Given the description of an element on the screen output the (x, y) to click on. 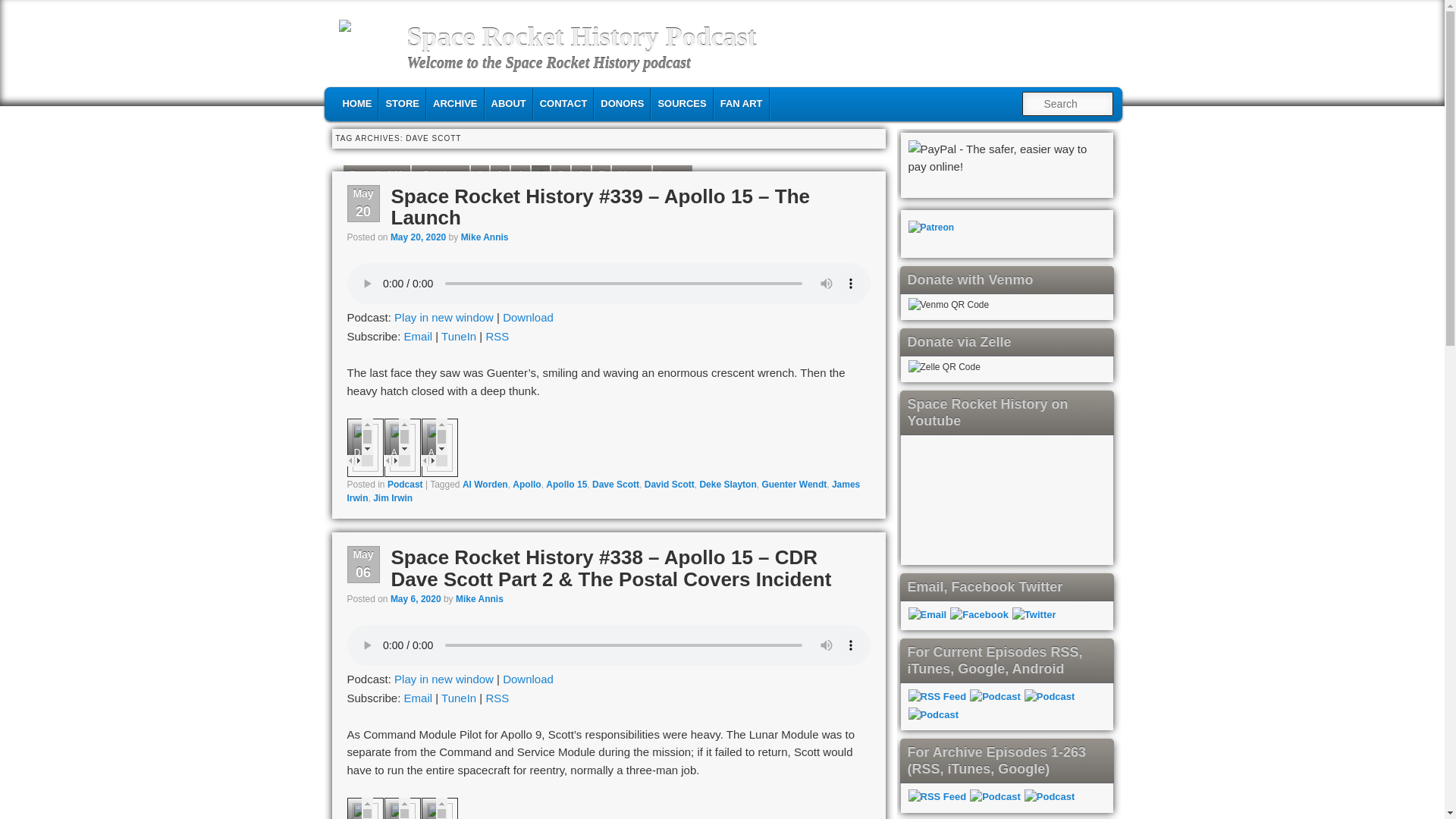
Mike Annis (484, 236)
Skip to primary content (421, 102)
View all posts by Mike Annis (479, 598)
3 (520, 174)
Download (527, 317)
1 (479, 174)
David Scott (669, 484)
Search (24, 8)
Al Worden (485, 484)
2 (499, 174)
